Given the description of an element on the screen output the (x, y) to click on. 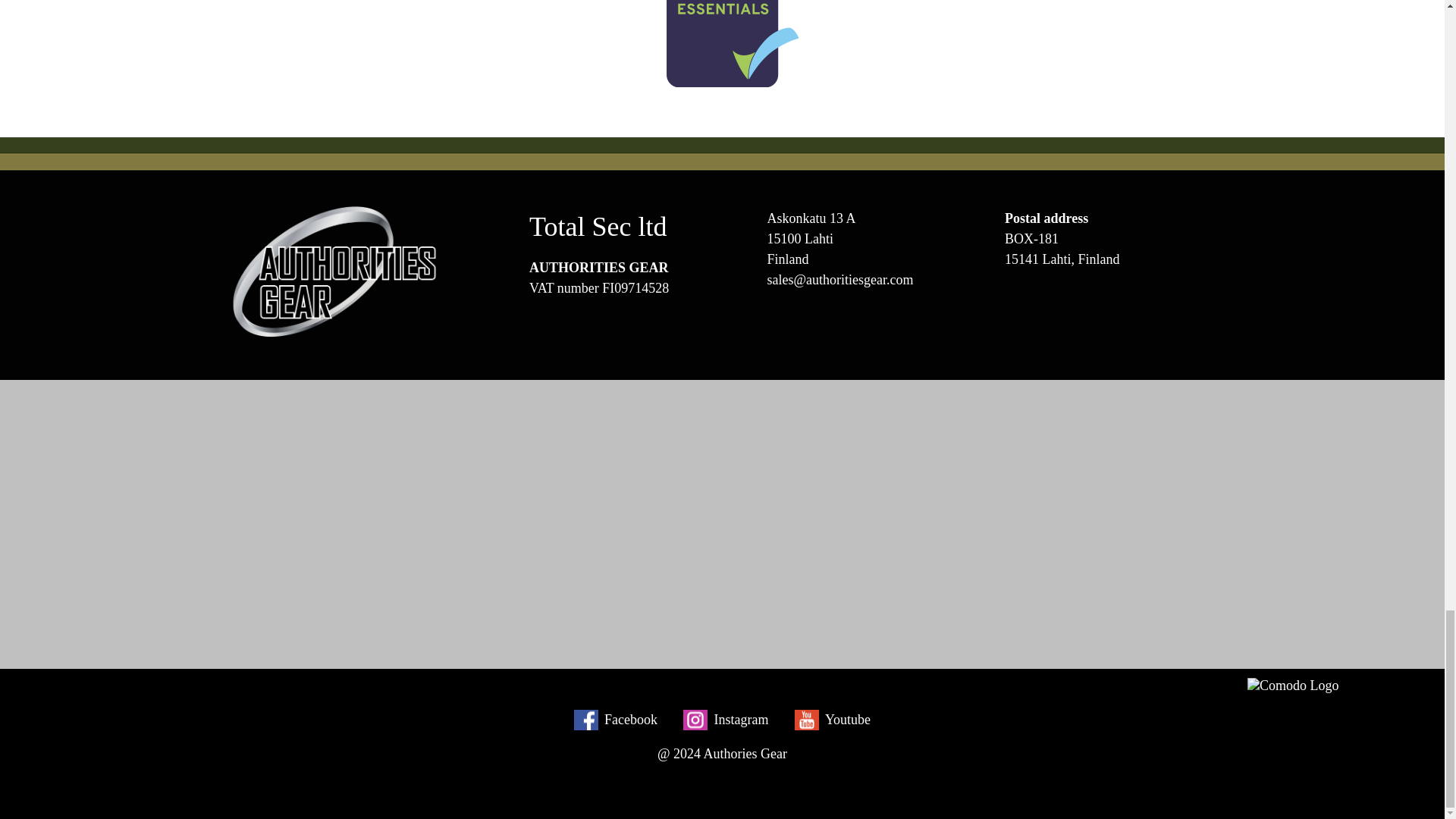
Youtube (832, 720)
Instagram (725, 720)
Facebook (615, 720)
